Given the description of an element on the screen output the (x, y) to click on. 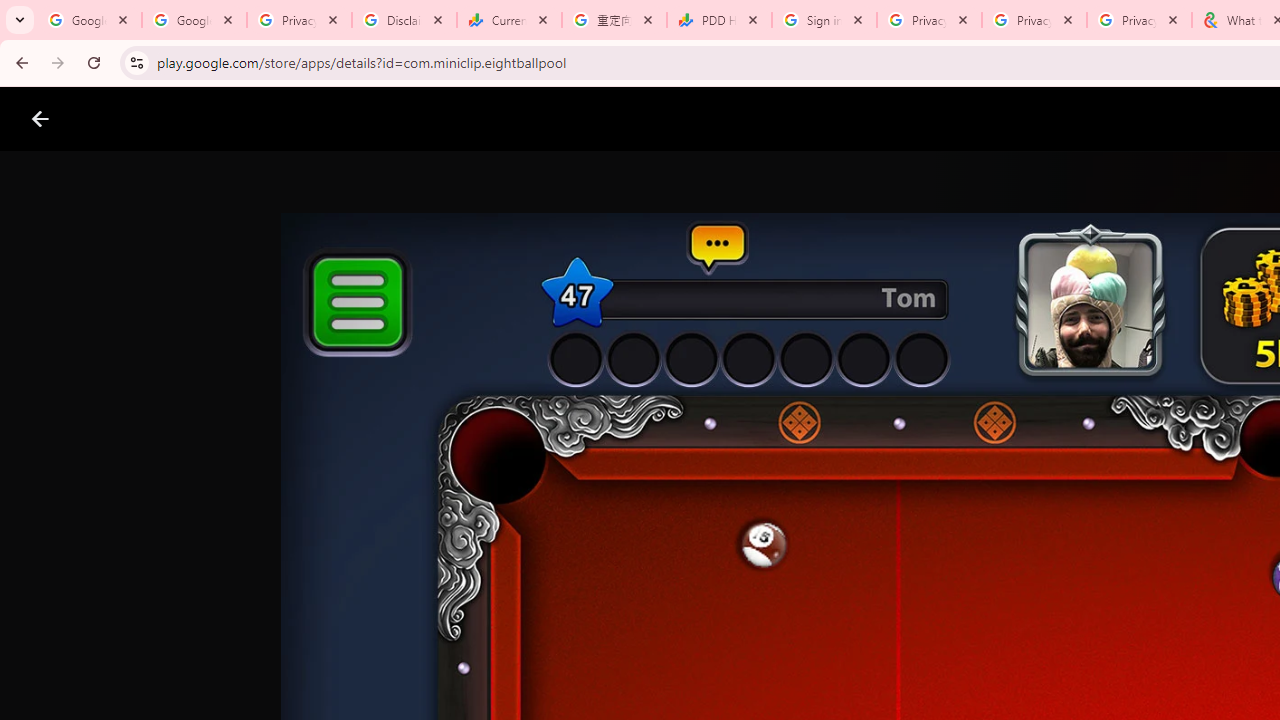
Kids (385, 119)
More info about this content rating (1013, 678)
Content rating (973, 656)
PDD Holdings Inc - ADR (PDD) Price & News - Google Finance (718, 20)
Google Workspace Admin Community (89, 20)
Privacy Checkup (1138, 20)
Apps (321, 119)
Privacy Checkup (1033, 20)
Sign in - Google Accounts (823, 20)
